Given the description of an element on the screen output the (x, y) to click on. 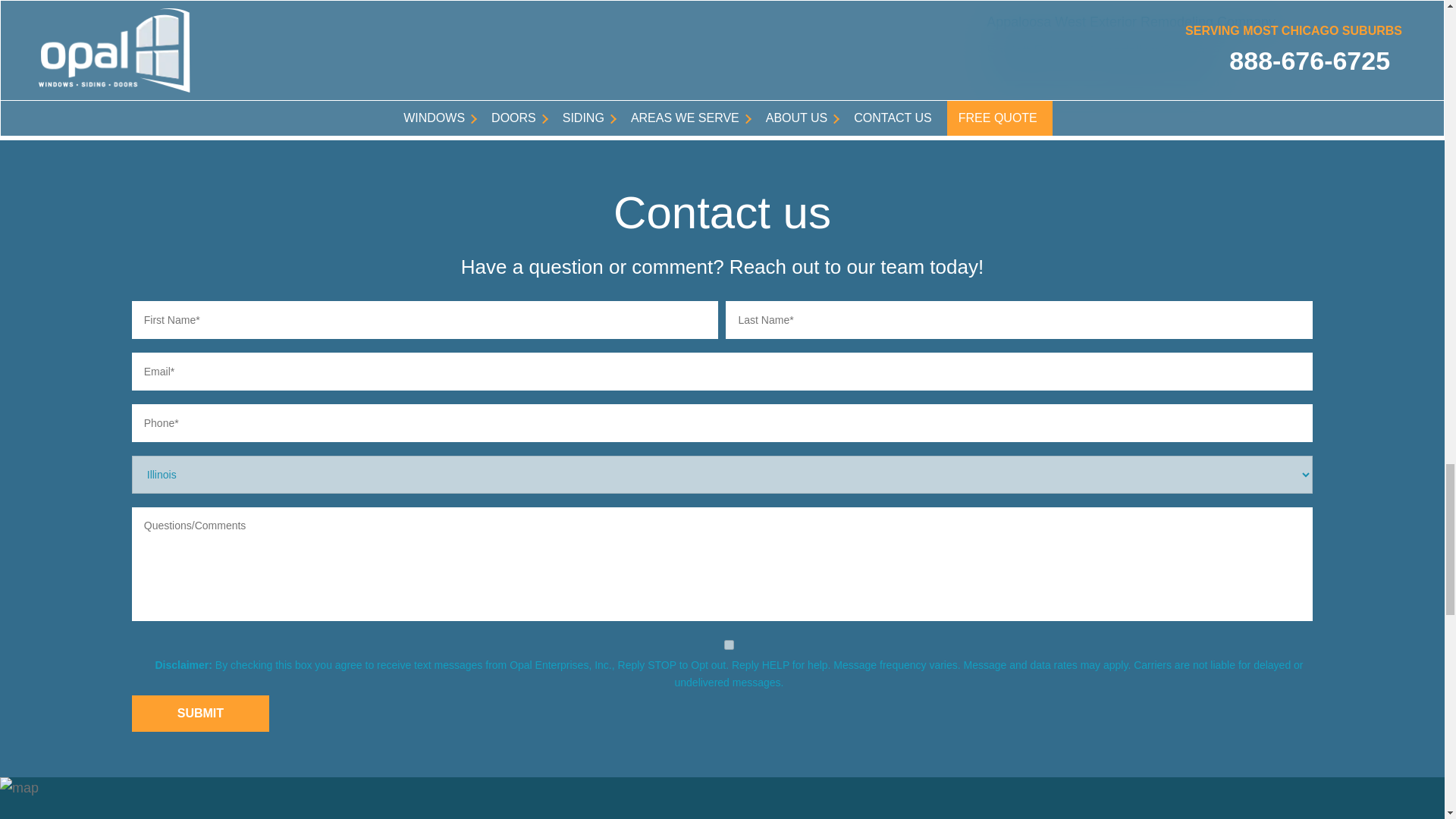
Submit (200, 713)
1 (728, 644)
